Given the description of an element on the screen output the (x, y) to click on. 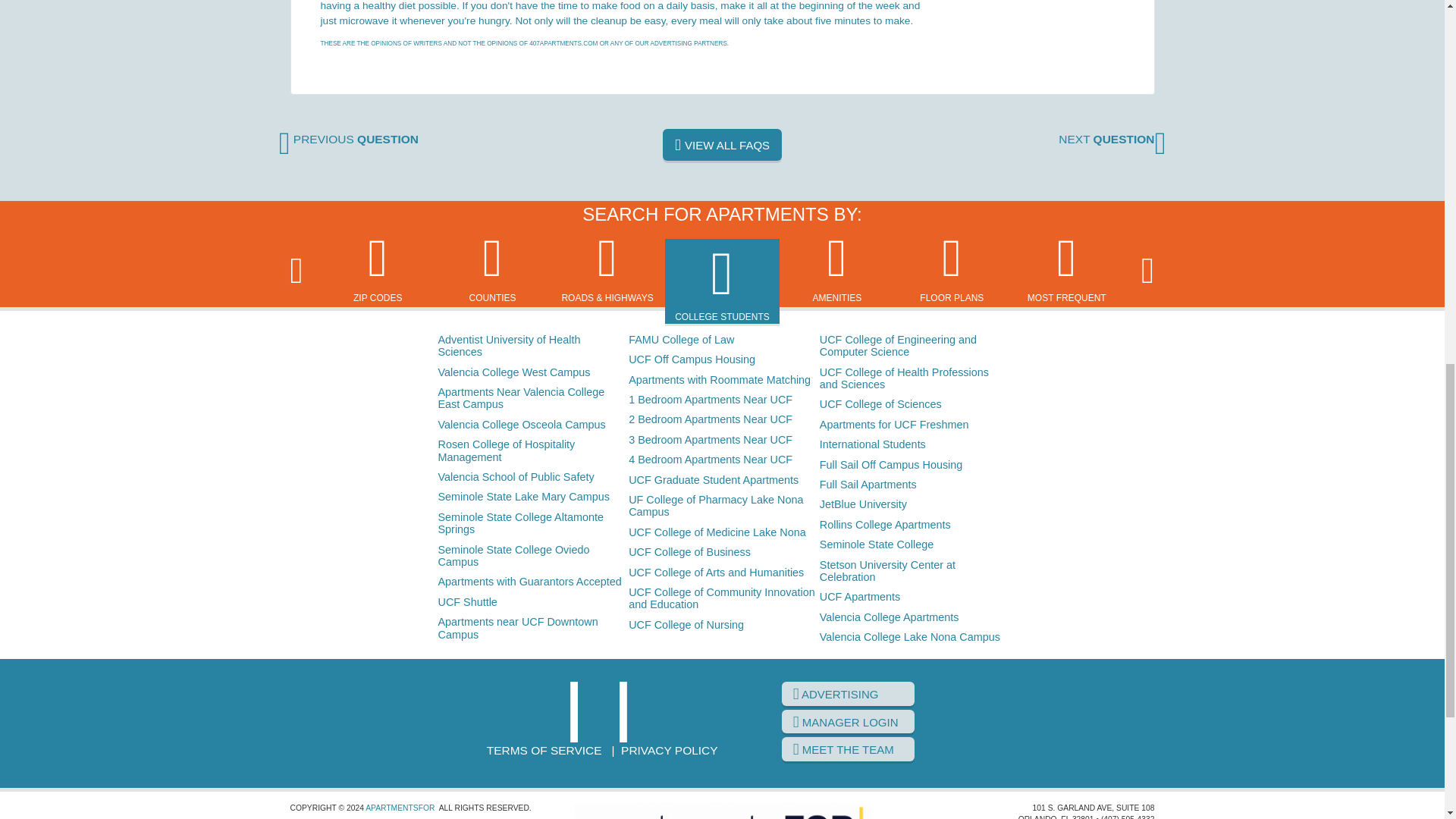
 PREVIOUS QUESTION (349, 138)
 VIEW ALL FAQS (721, 144)
Orlando, FL Apartments (601, 711)
COLLEGE STUDENTS (722, 282)
Terms of Service (544, 749)
FLOOR PLANS (951, 267)
NEXT QUESTION (1112, 138)
ZIP CODES (377, 267)
MOST FREQUENT (1067, 267)
COUNTIES (492, 267)
AMENITIES (837, 267)
